Given the description of an element on the screen output the (x, y) to click on. 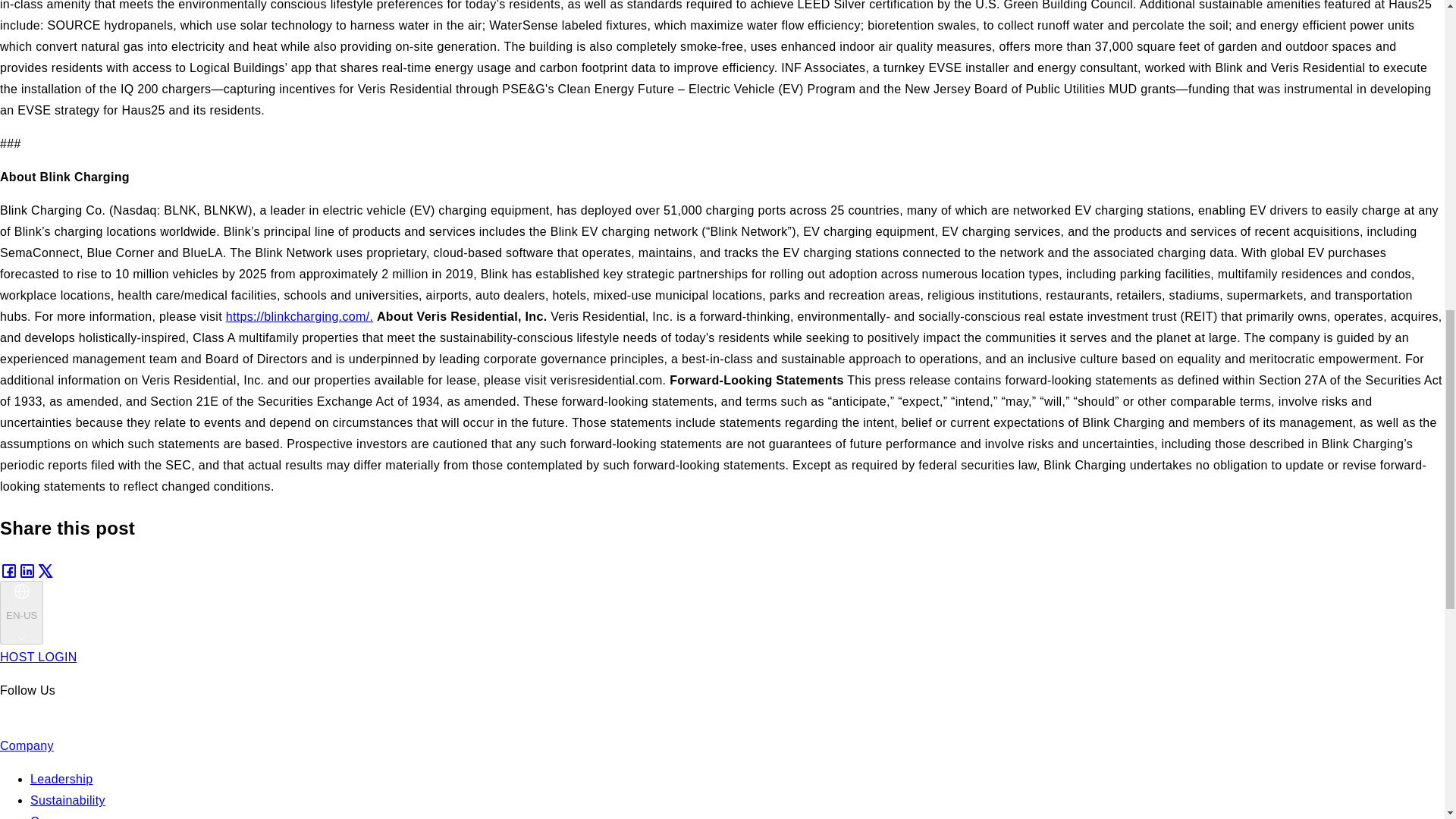
Sustainability (67, 799)
Careers (52, 816)
Company (26, 745)
HOST LOGIN (38, 656)
EN-US (21, 612)
Leadership (61, 779)
